Given the description of an element on the screen output the (x, y) to click on. 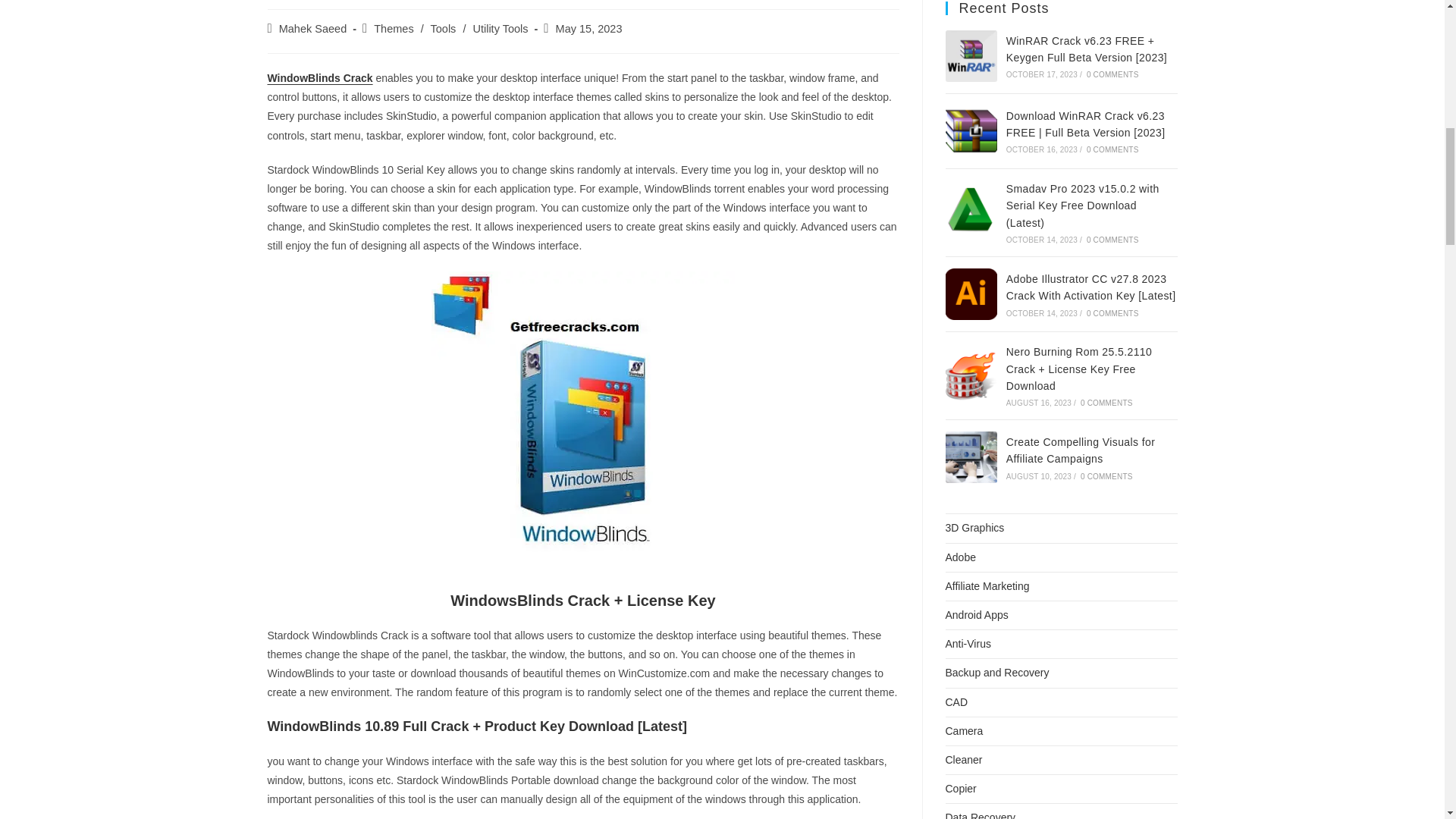
Utility Tools (499, 28)
Tools (443, 28)
Mahek Saeed (312, 28)
Themes (393, 28)
Posts by Mahek Saeed (312, 28)
Create Compelling Visuals for Affiliate Campaigns (969, 457)
WindowBlinds Crack (319, 78)
